Given the description of an element on the screen output the (x, y) to click on. 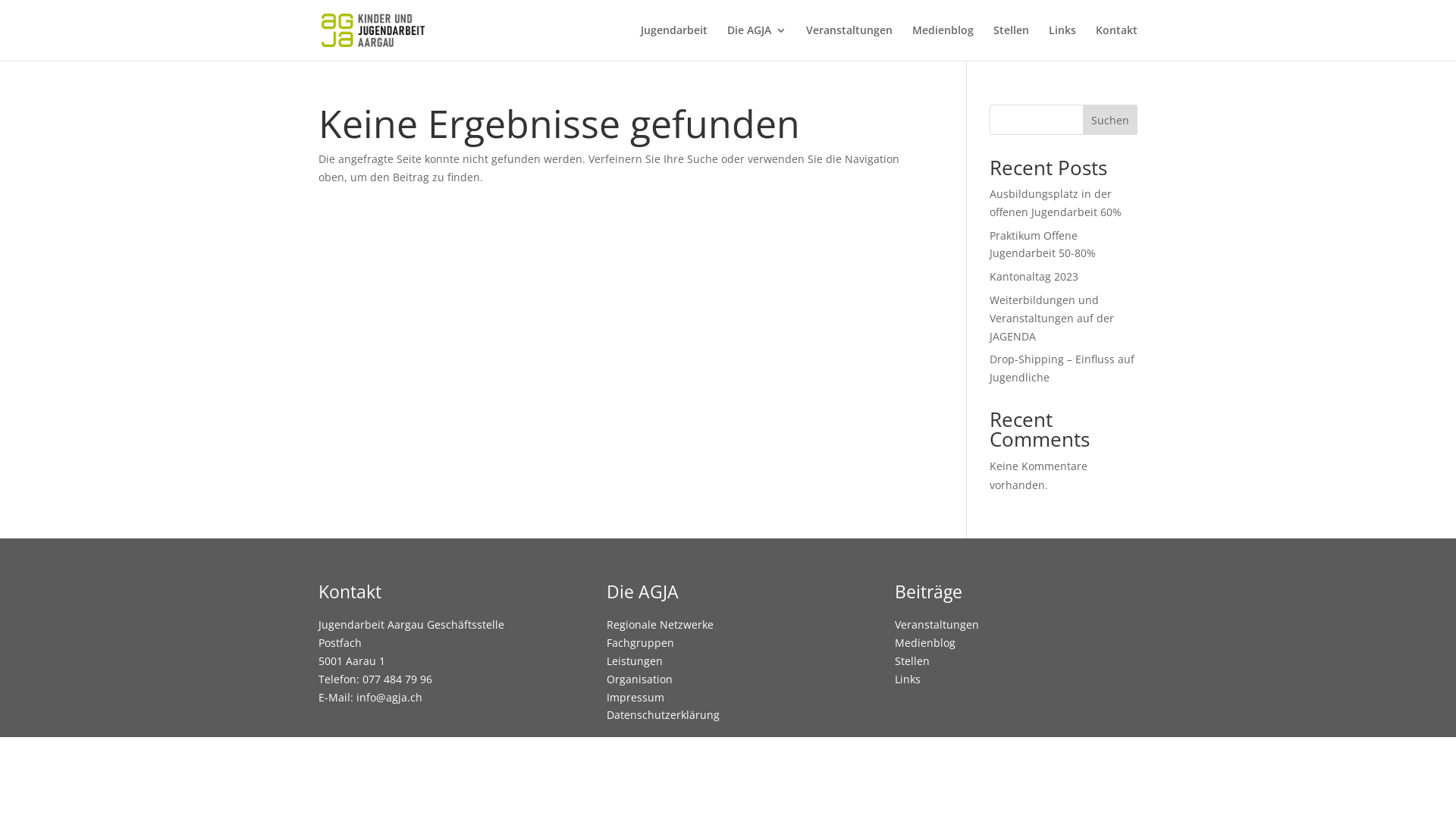
Veranstaltungen Element type: text (849, 42)
Ausbildungsplatz in der offenen Jugendarbeit 60% Element type: text (1055, 202)
Organisation Element type: text (639, 678)
Veranstaltungen Element type: text (936, 624)
Medienblog Element type: text (942, 42)
Leistungen Element type: text (634, 660)
Impressum Element type: text (635, 697)
Fachgruppen Element type: text (640, 642)
Weiterbildungen und Veranstaltungen auf der JAGENDA Element type: text (1051, 317)
Links Element type: text (1062, 42)
Kantonaltag 2023 Element type: text (1033, 276)
Praktikum Offene Jugendarbeit 50-80% Element type: text (1042, 244)
Die AGJA Element type: text (756, 42)
info@agja.ch Element type: text (389, 697)
Stellen Element type: text (911, 660)
Links Element type: text (907, 678)
Medienblog Element type: text (924, 642)
Jugendarbeit Element type: text (673, 42)
Suchen Element type: text (1109, 119)
077 484 79 96 Element type: text (397, 678)
Regionale Netzwerke Element type: text (659, 624)
Stellen Element type: text (1011, 42)
Kontakt Element type: text (1116, 42)
